Given the description of an element on the screen output the (x, y) to click on. 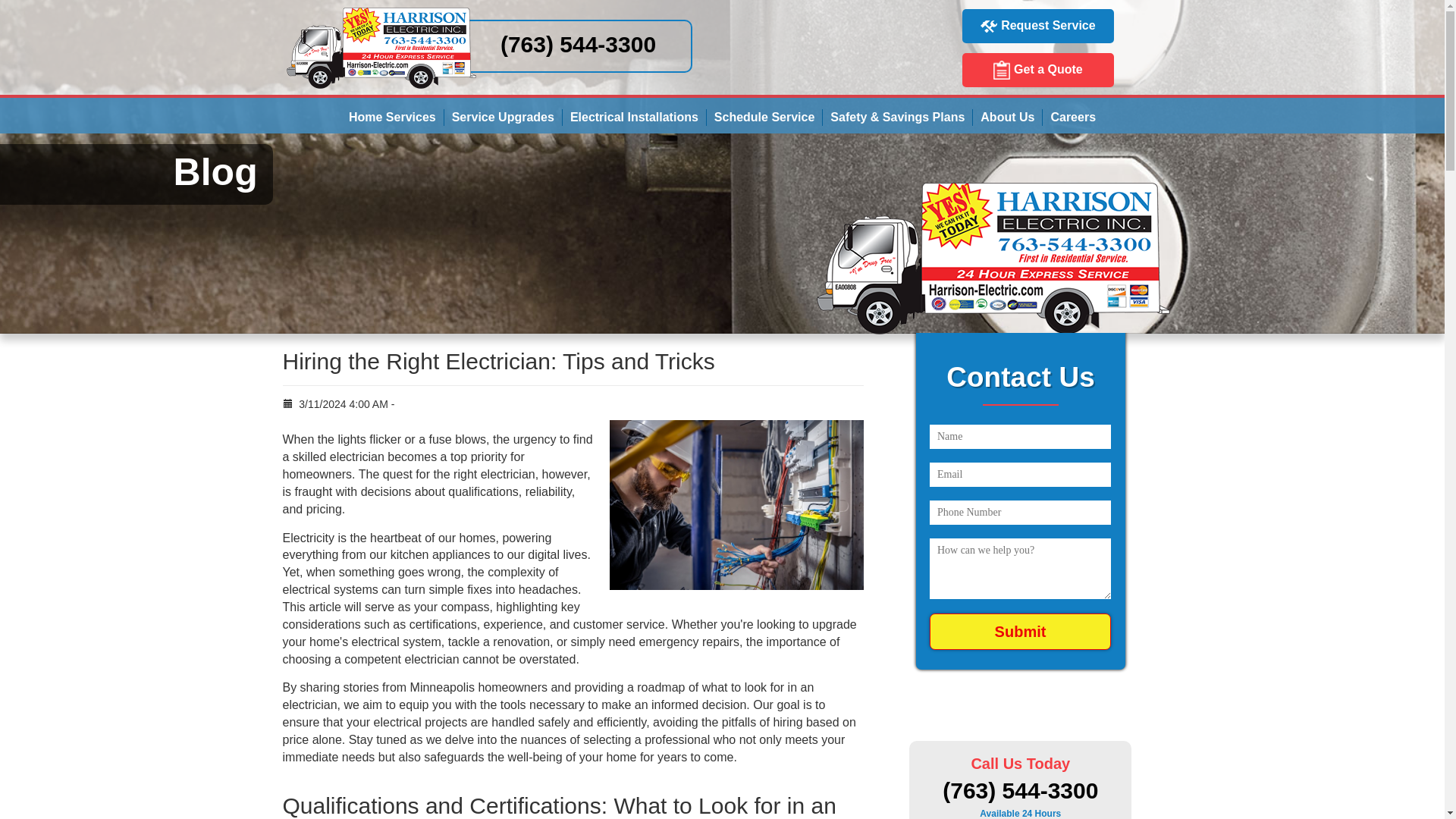
Get a Quote (1037, 69)
Home Services (392, 117)
Request Service (988, 26)
Call Us (578, 43)
Request Service (1037, 26)
Schedule Service (764, 117)
Get a Quote (1037, 69)
Service Upgrades (503, 117)
Electrical Installations (634, 117)
Harrison Electric (381, 13)
